Given the description of an element on the screen output the (x, y) to click on. 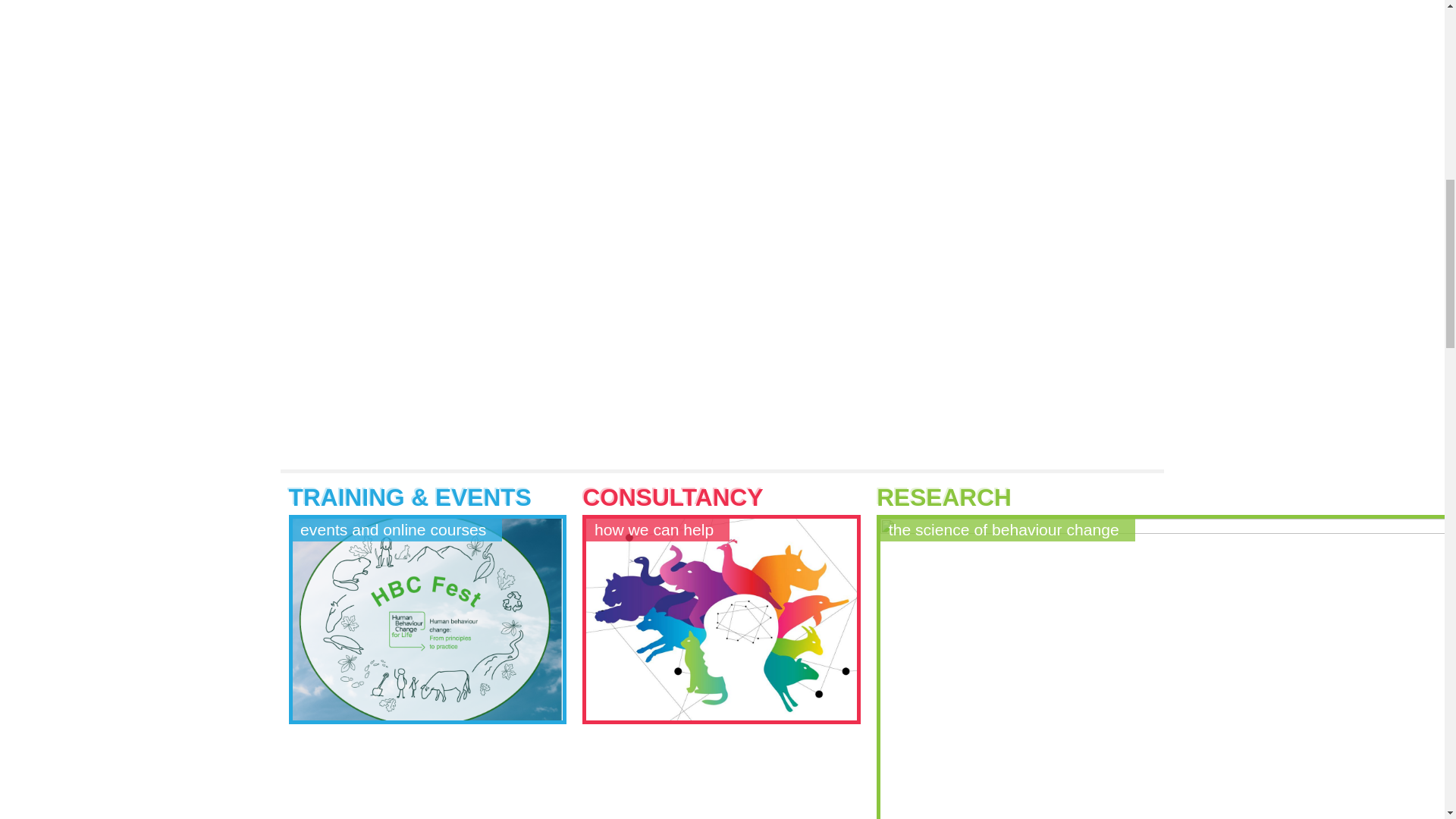
CONSULTANCY (672, 497)
RESEARCH (943, 497)
